Given the description of an element on the screen output the (x, y) to click on. 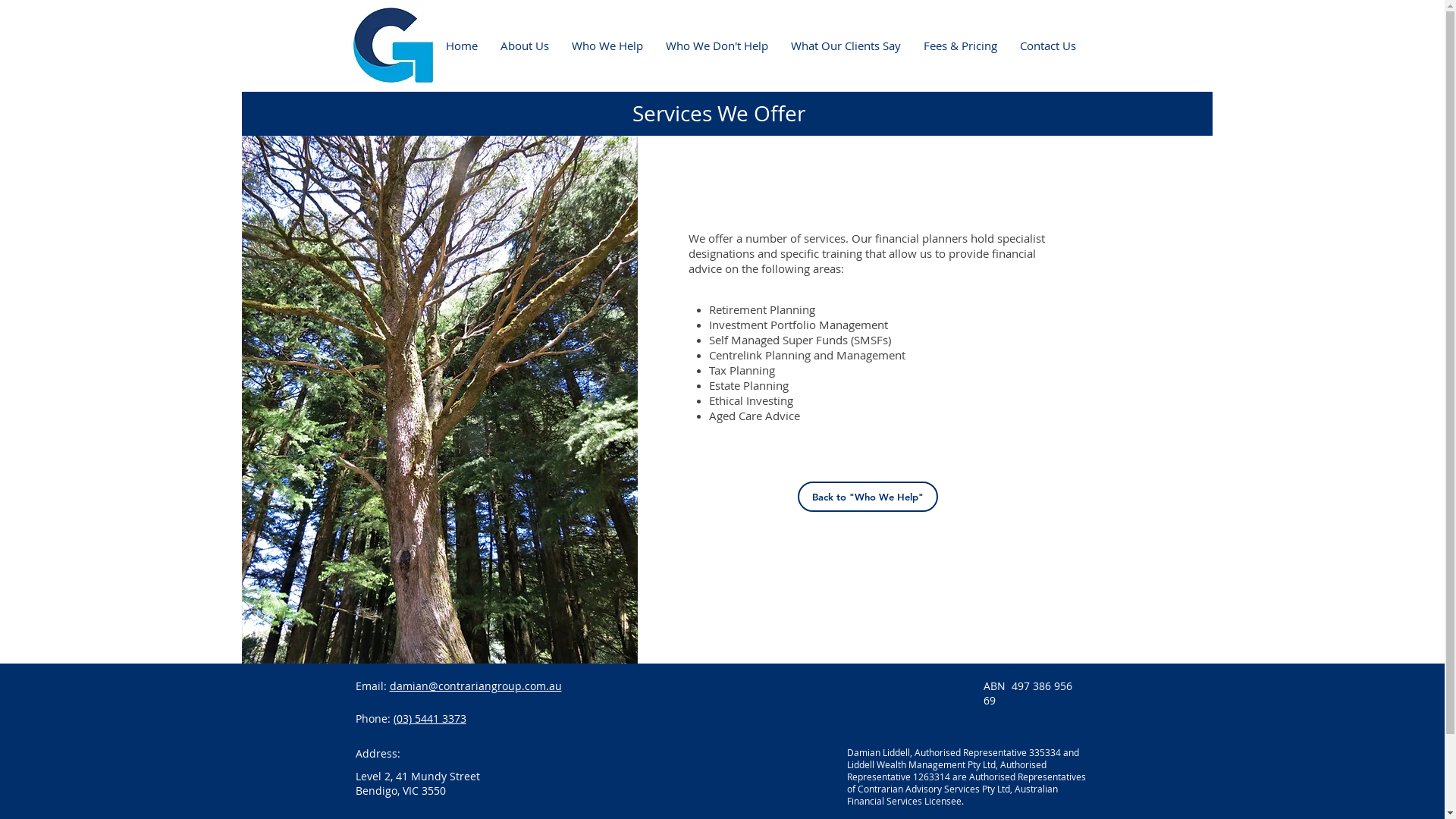
What Our Clients Say Element type: text (845, 45)
(03) 5441 3373 Element type: text (428, 718)
damian@contrariangroup.com.au Element type: text (475, 685)
Who We Help Element type: text (606, 45)
Contrarian Group Financial Planning Element type: hover (392, 45)
Home Element type: text (460, 45)
Fees & Pricing Element type: text (959, 45)
Who We Don't Help Element type: text (715, 45)
Back to "Who We Help" Element type: text (867, 496)
About Us Element type: text (523, 45)
Contact Us Element type: text (1047, 45)
